Given the description of an element on the screen output the (x, y) to click on. 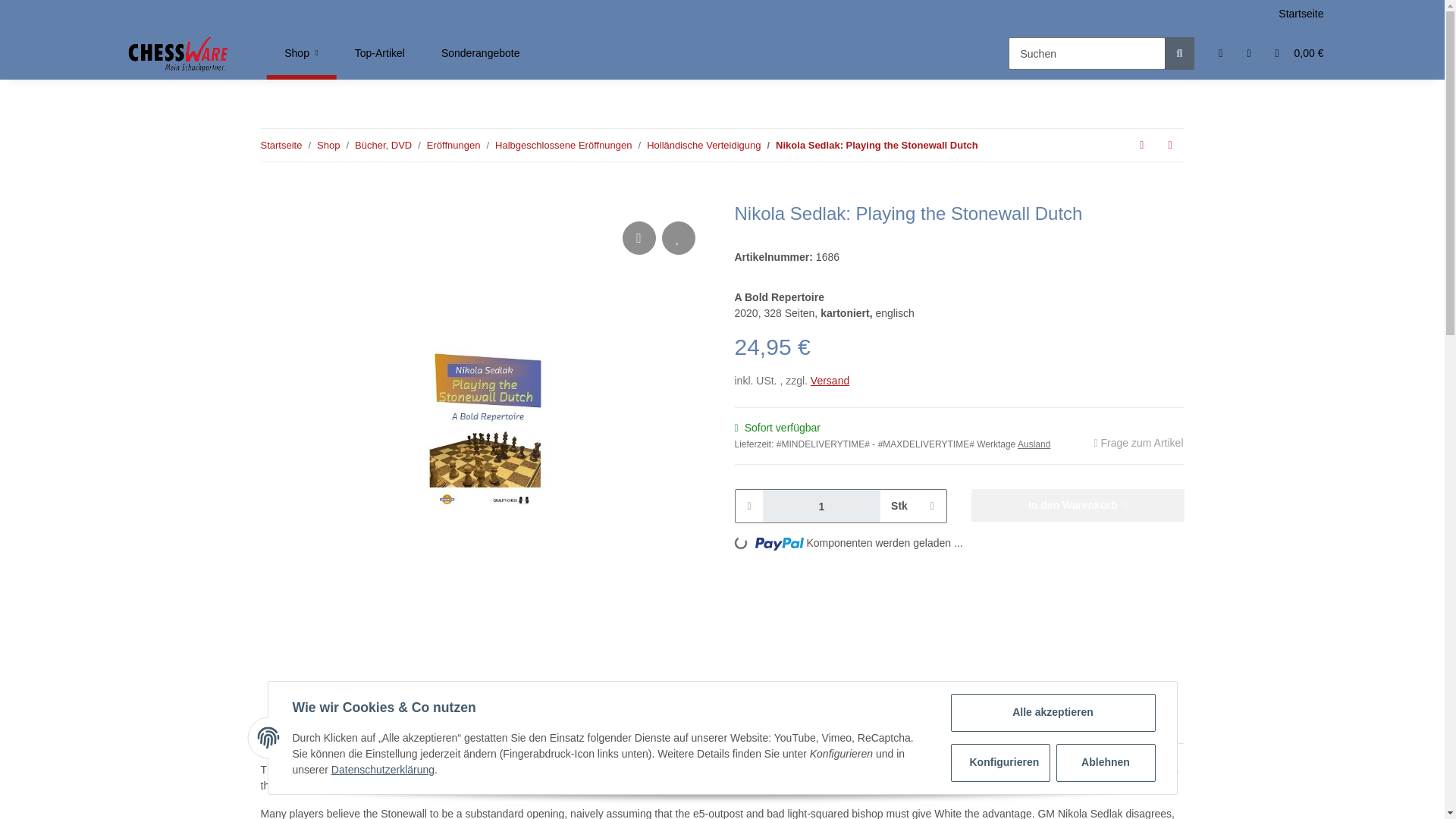
Startseite (630, 53)
Shop (281, 145)
Nikola Sedlak: Playing the Stonewall Dutch (301, 53)
Top-Artikel (877, 145)
ChessWare (379, 53)
Shop (179, 53)
Sonderangebote (301, 53)
Shop (480, 53)
Startseite (301, 53)
